Given the description of an element on the screen output the (x, y) to click on. 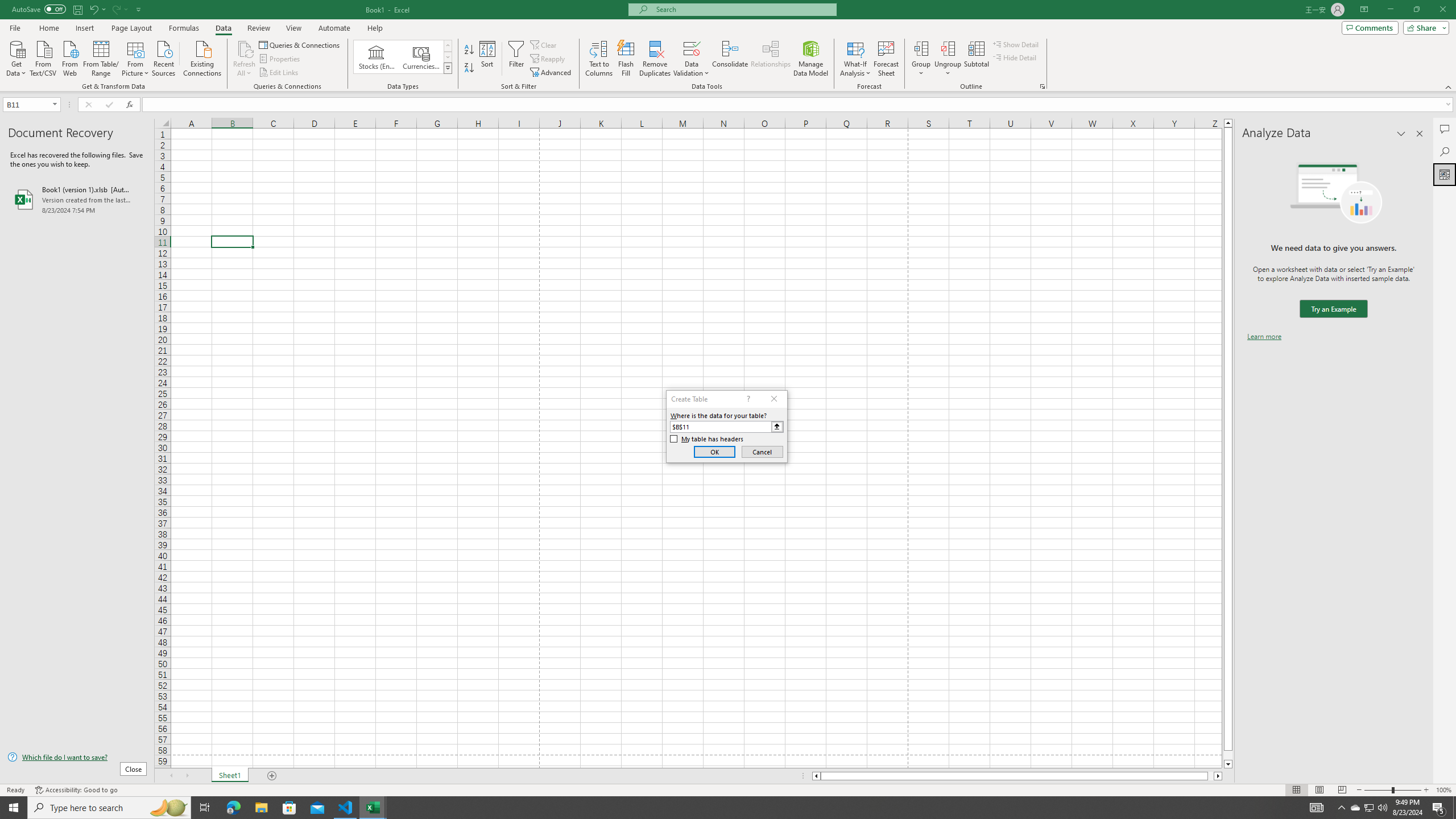
Stocks (English) (375, 56)
Analyze Data (1444, 173)
Hide Detail (1014, 56)
Sort Z to A (469, 67)
Show Detail (1016, 44)
Text to Columns... (598, 58)
Advanced... (551, 72)
